Given the description of an element on the screen output the (x, y) to click on. 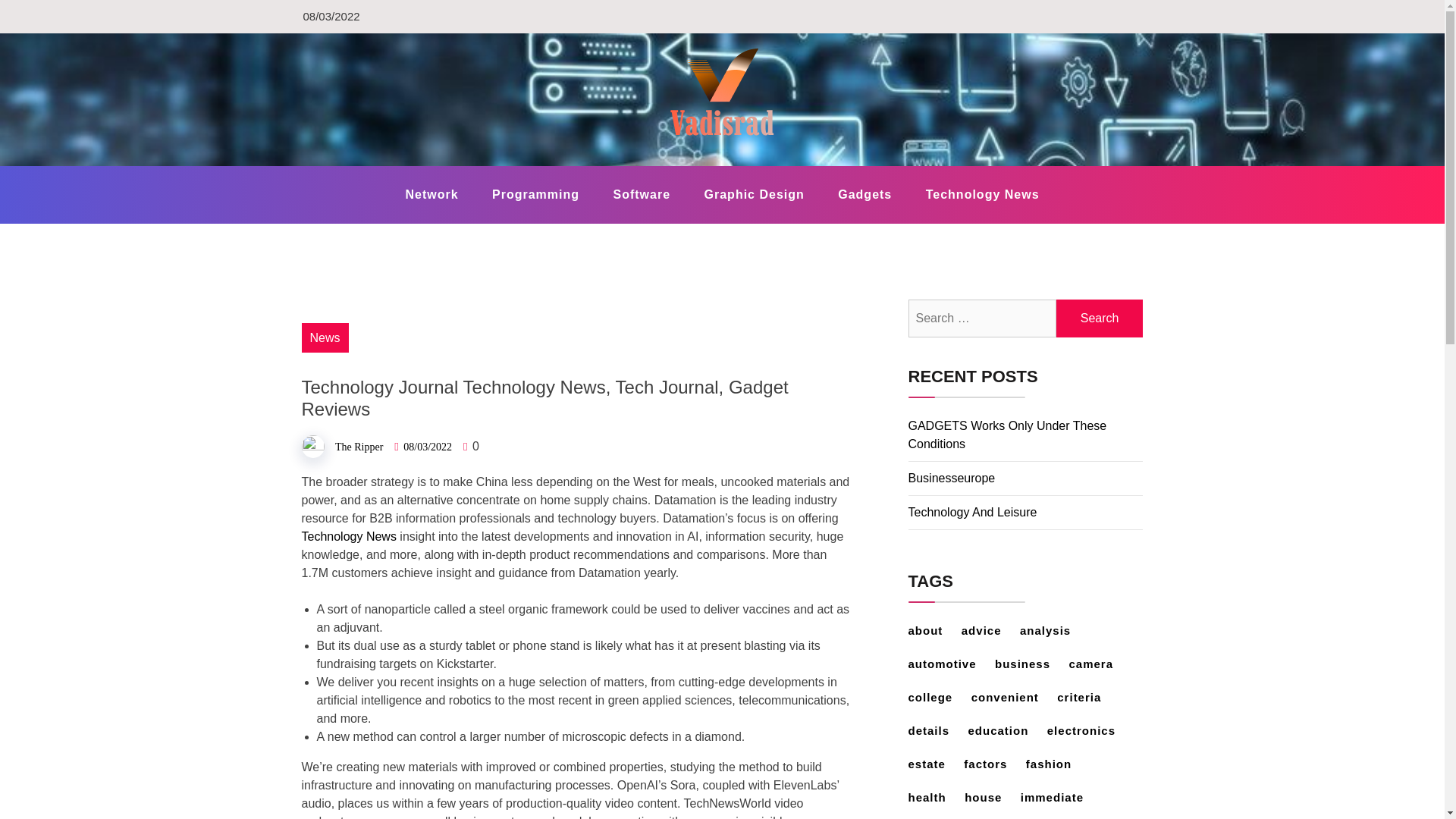
GADGETS Works Only Under These Conditions (1007, 434)
Businesseurope (951, 477)
convenient (1012, 697)
Software (640, 194)
analysis (1053, 630)
Technology News (982, 194)
business (1029, 664)
college (938, 697)
criteria (1086, 697)
VDSR (339, 164)
advice (988, 630)
Gadgets (864, 194)
Graphic Design (753, 194)
Network (431, 194)
Technology News (348, 535)
